Given the description of an element on the screen output the (x, y) to click on. 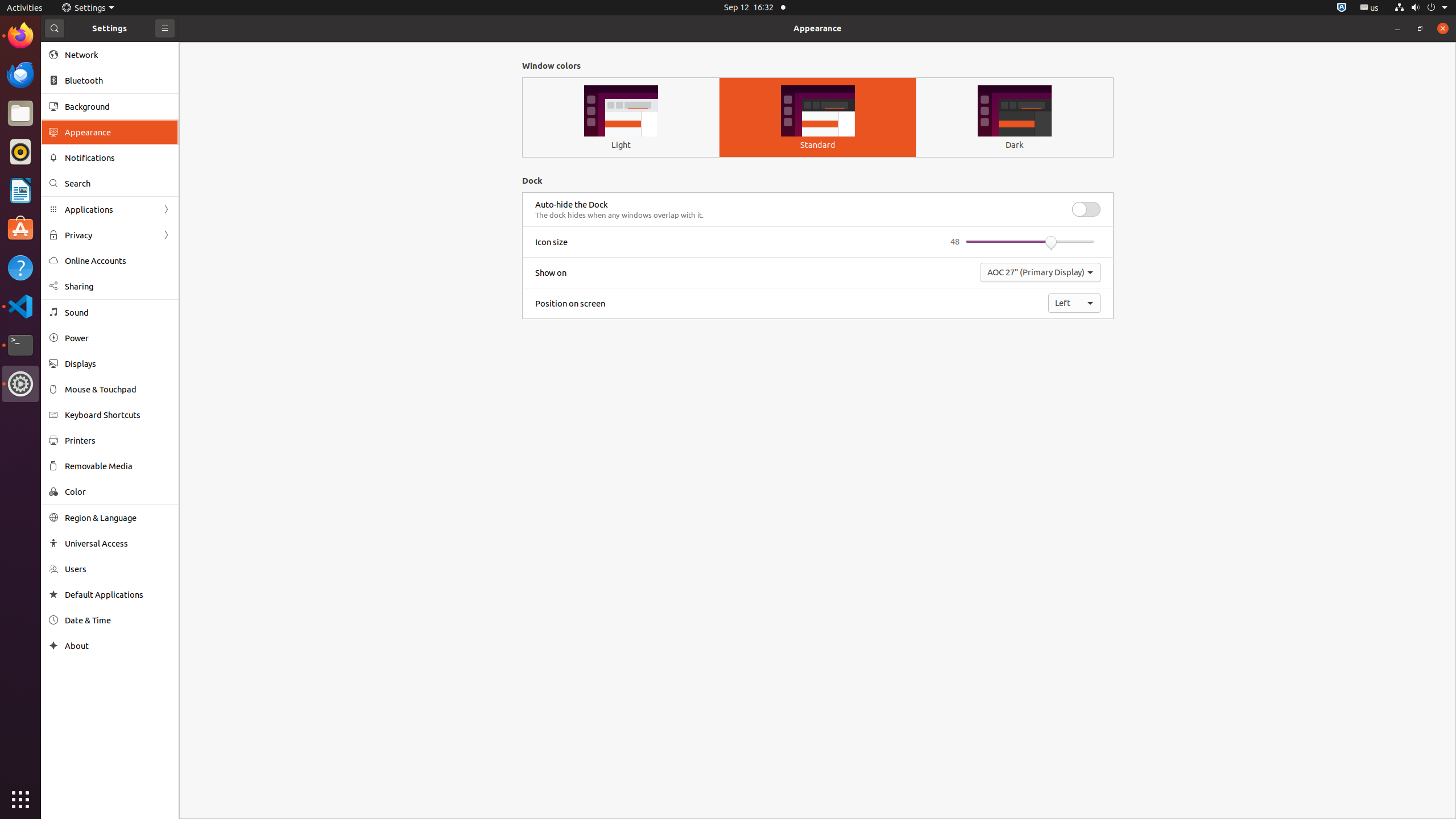
Terminal Element type: push-button (20, 344)
Color Element type: label (117, 491)
Universal Access Element type: label (117, 543)
Date & Time Element type: label (117, 620)
Icon size Element type: label (551, 241)
